Given the description of an element on the screen output the (x, y) to click on. 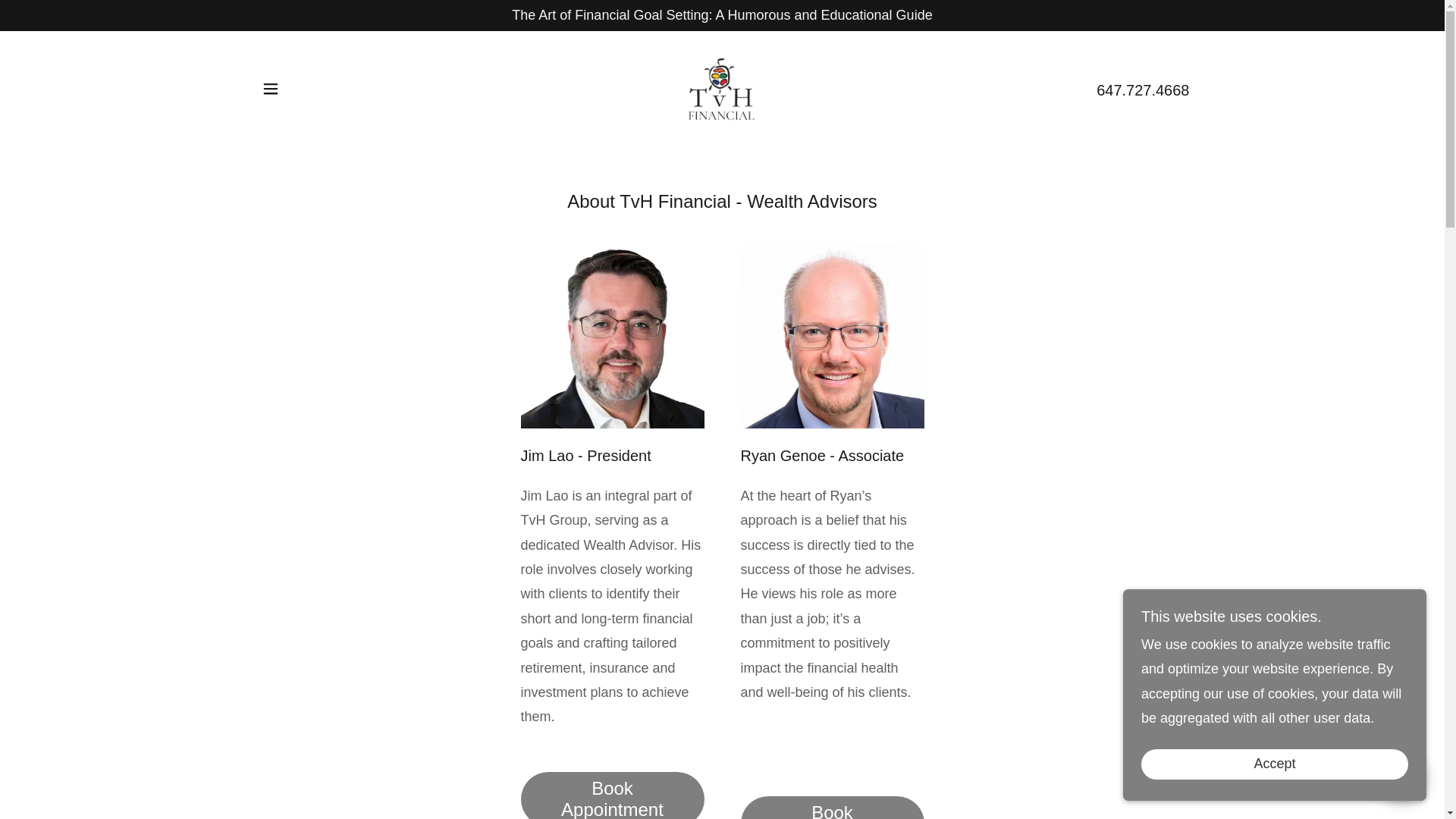
Book Appointment (611, 795)
Book Appointment (831, 807)
647.727.4668 (1142, 89)
TvH Financial (721, 87)
Accept (1274, 764)
